Given the description of an element on the screen output the (x, y) to click on. 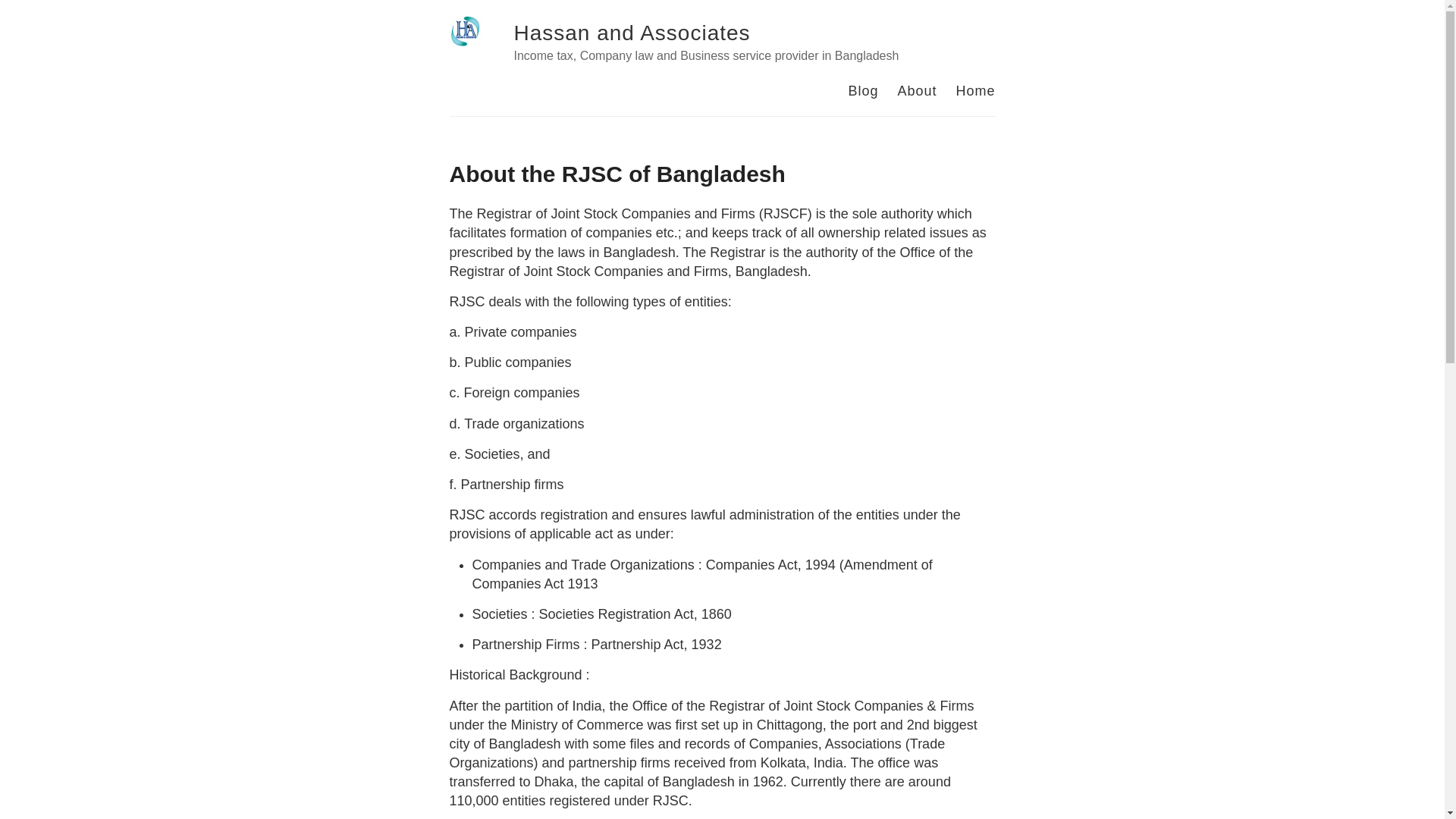
Hassan and Associates Element type: text (632, 32)
Home Element type: text (974, 90)
About Element type: text (916, 90)
Blog Element type: text (862, 90)
